Given the description of an element on the screen output the (x, y) to click on. 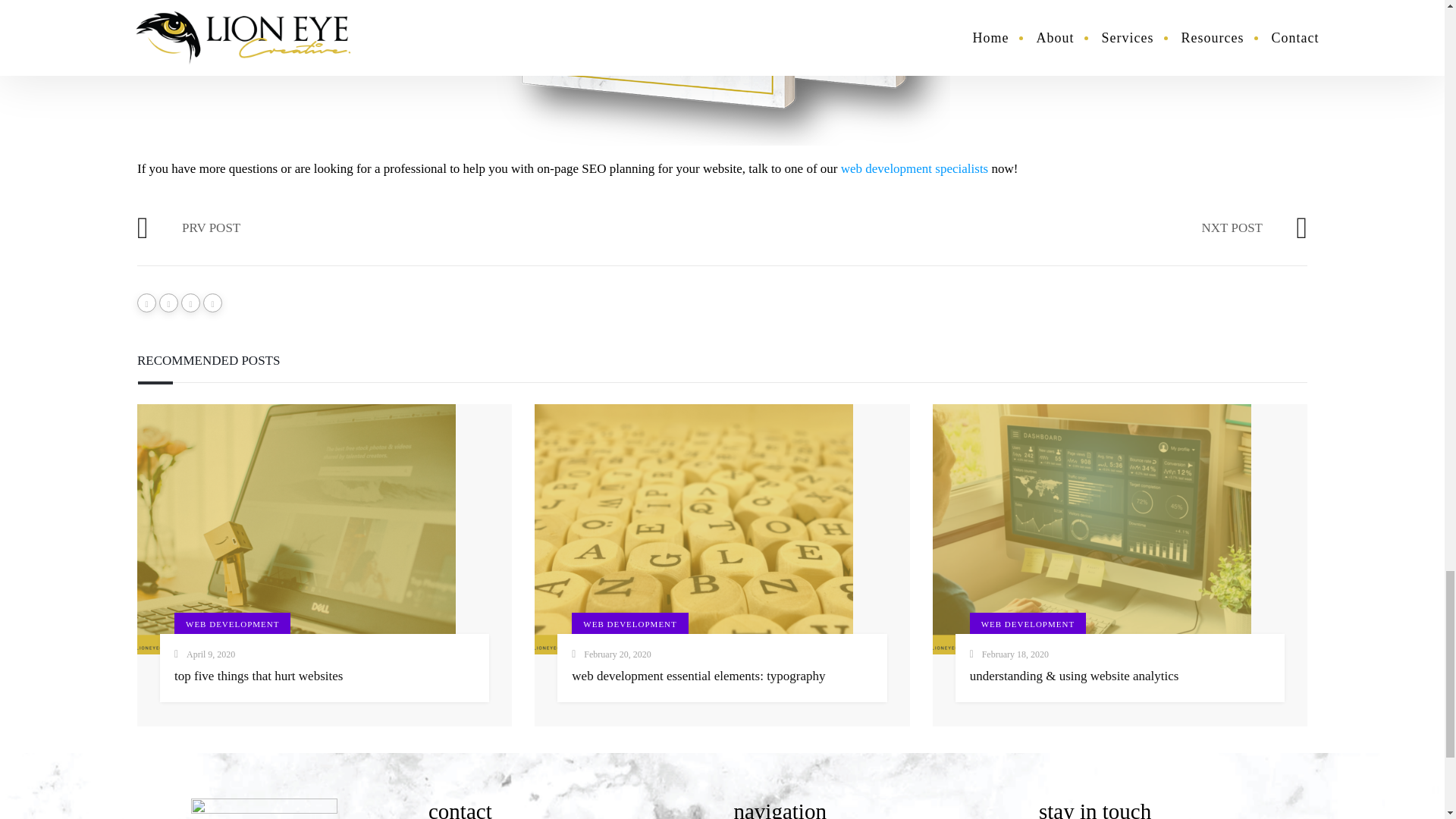
web development specialists (914, 168)
NXT POST (998, 228)
PRV POST (446, 228)
